Given the description of an element on the screen output the (x, y) to click on. 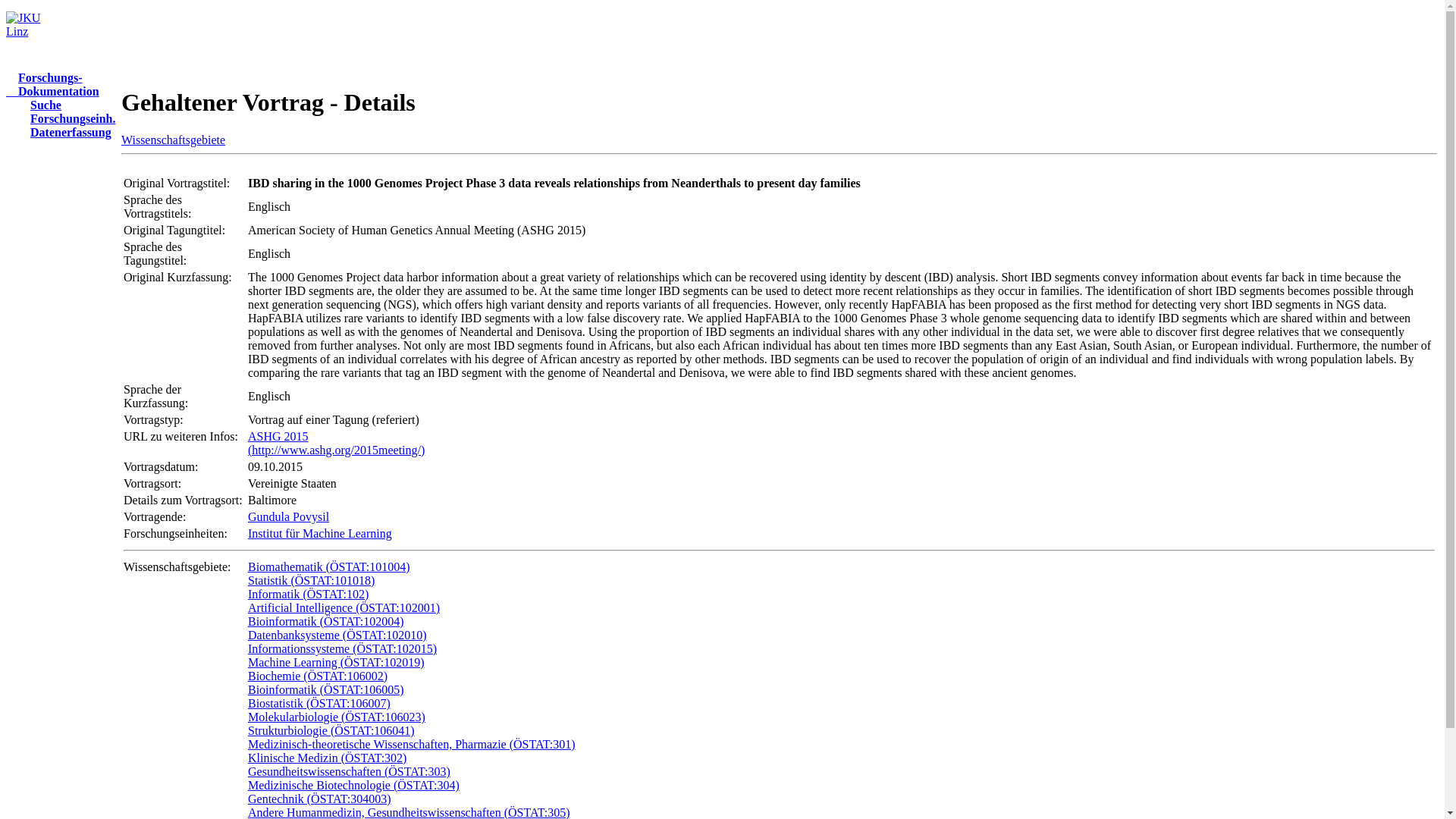
Suche (39, 104)
Wissenschaftsgebiete (172, 139)
Wissenschaftsgebiete: (52, 84)
Datenerfassung (177, 566)
Gundula Povysil (64, 132)
Forschungseinh. (288, 516)
